Given the description of an element on the screen output the (x, y) to click on. 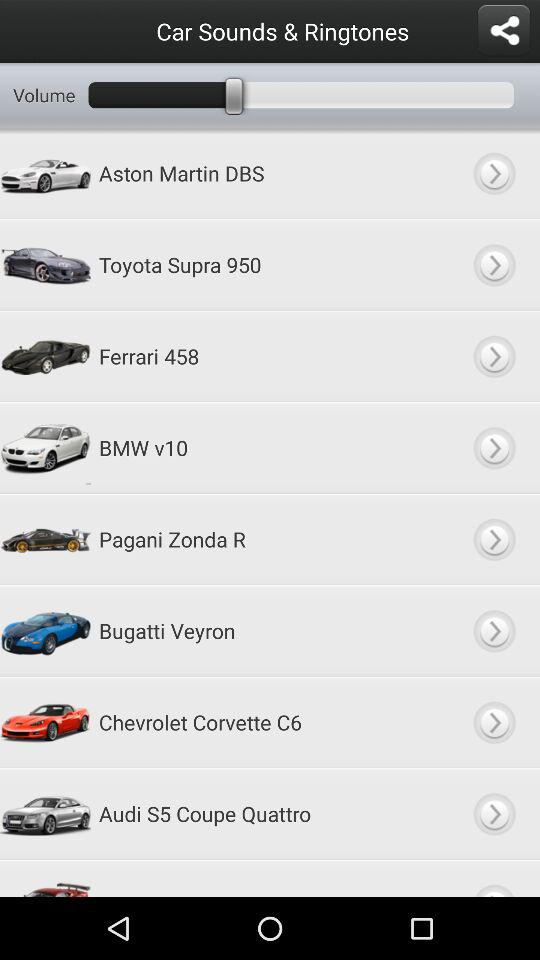
play the car sounds (494, 539)
